Given the description of an element on the screen output the (x, y) to click on. 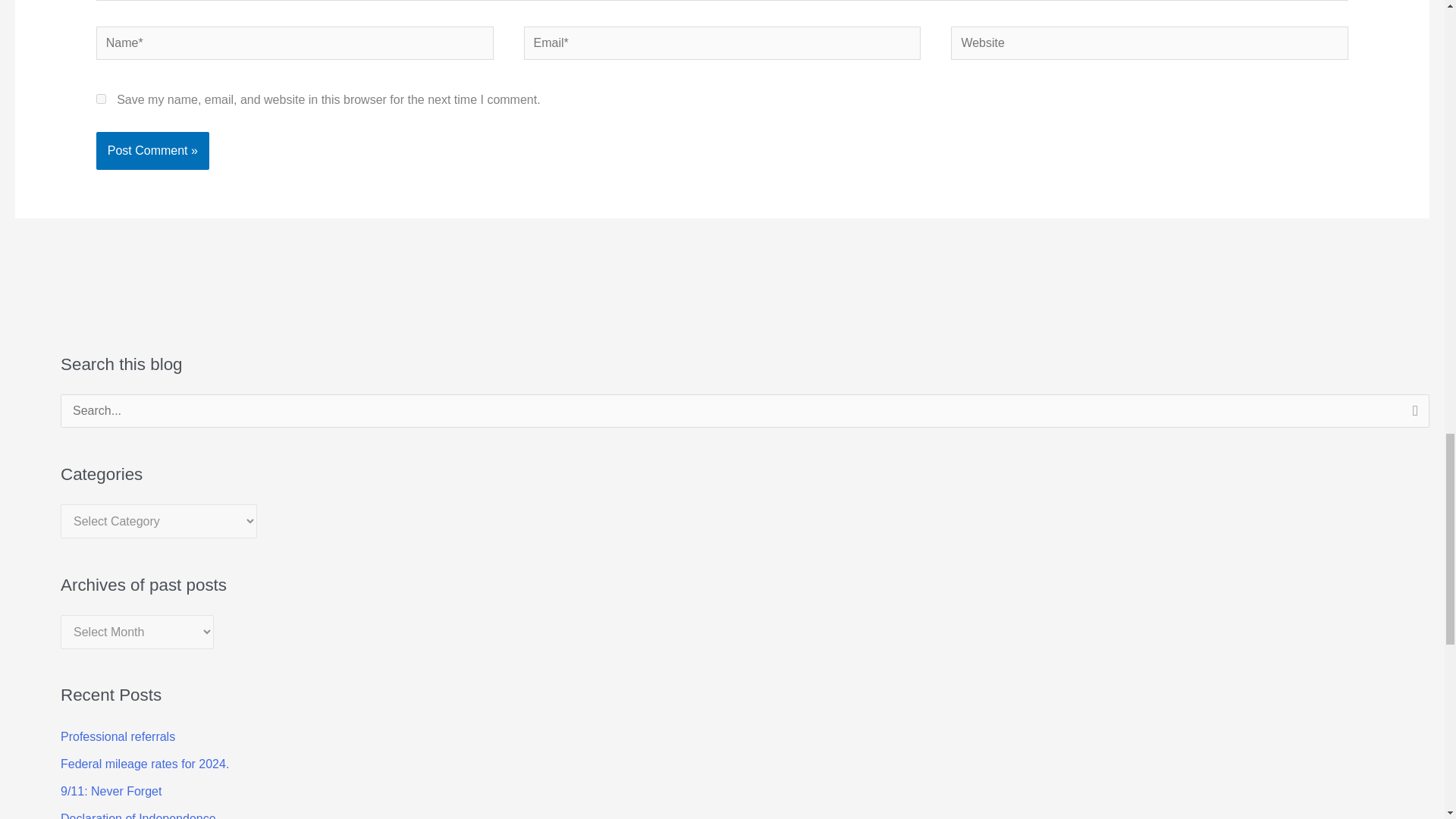
Professional referrals (117, 736)
Declaration of Independence (138, 815)
yes (101, 99)
Federal mileage rates for 2024. (144, 763)
